Given the description of an element on the screen output the (x, y) to click on. 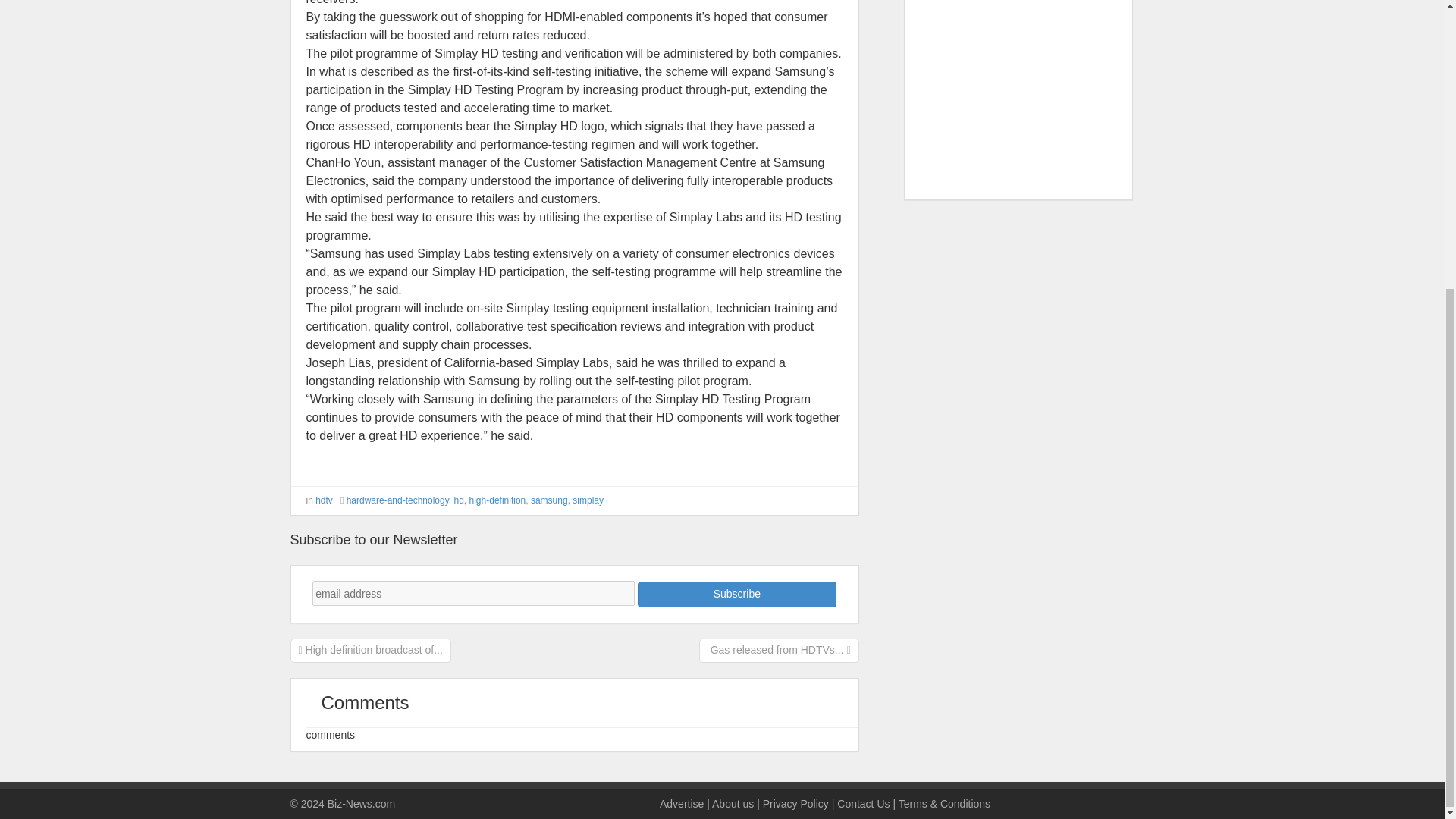
 High definition broadcast of... (370, 649)
Privacy Policy (795, 803)
Subscribe (736, 594)
samsung (549, 500)
hardware-and-technology (397, 500)
high-definition (496, 500)
hdtv (324, 500)
simplay (588, 500)
About us (732, 803)
Contact Us (863, 803)
hd (457, 500)
Advertise (681, 803)
Subscribe (736, 594)
 Gas released from HDTVs...  (778, 649)
